Given the description of an element on the screen output the (x, y) to click on. 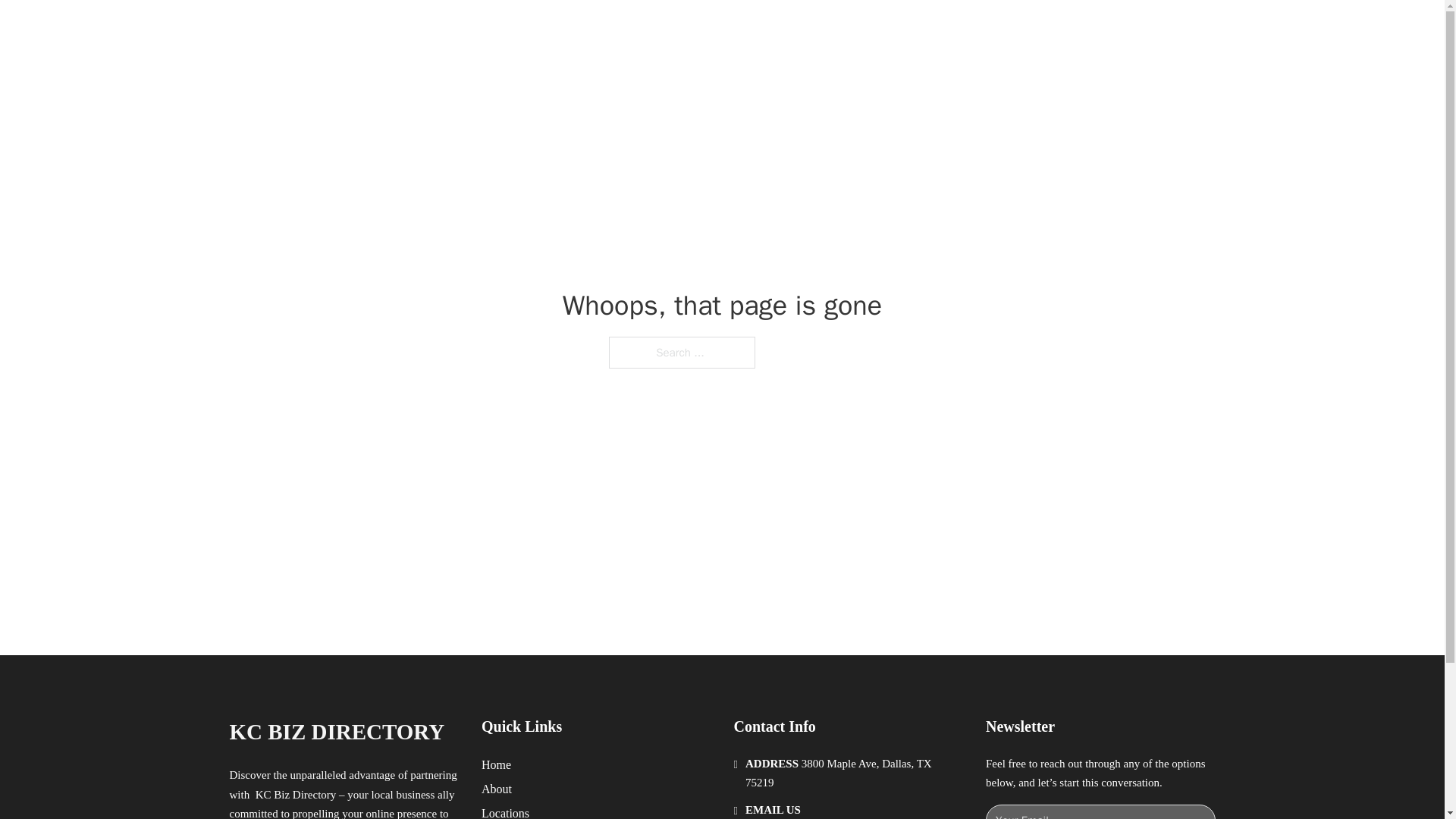
KC BIZ DIRECTORY (336, 732)
Home (496, 764)
About (496, 788)
KC BIZ DIRECTORY (404, 28)
Locations (505, 811)
